Given the description of an element on the screen output the (x, y) to click on. 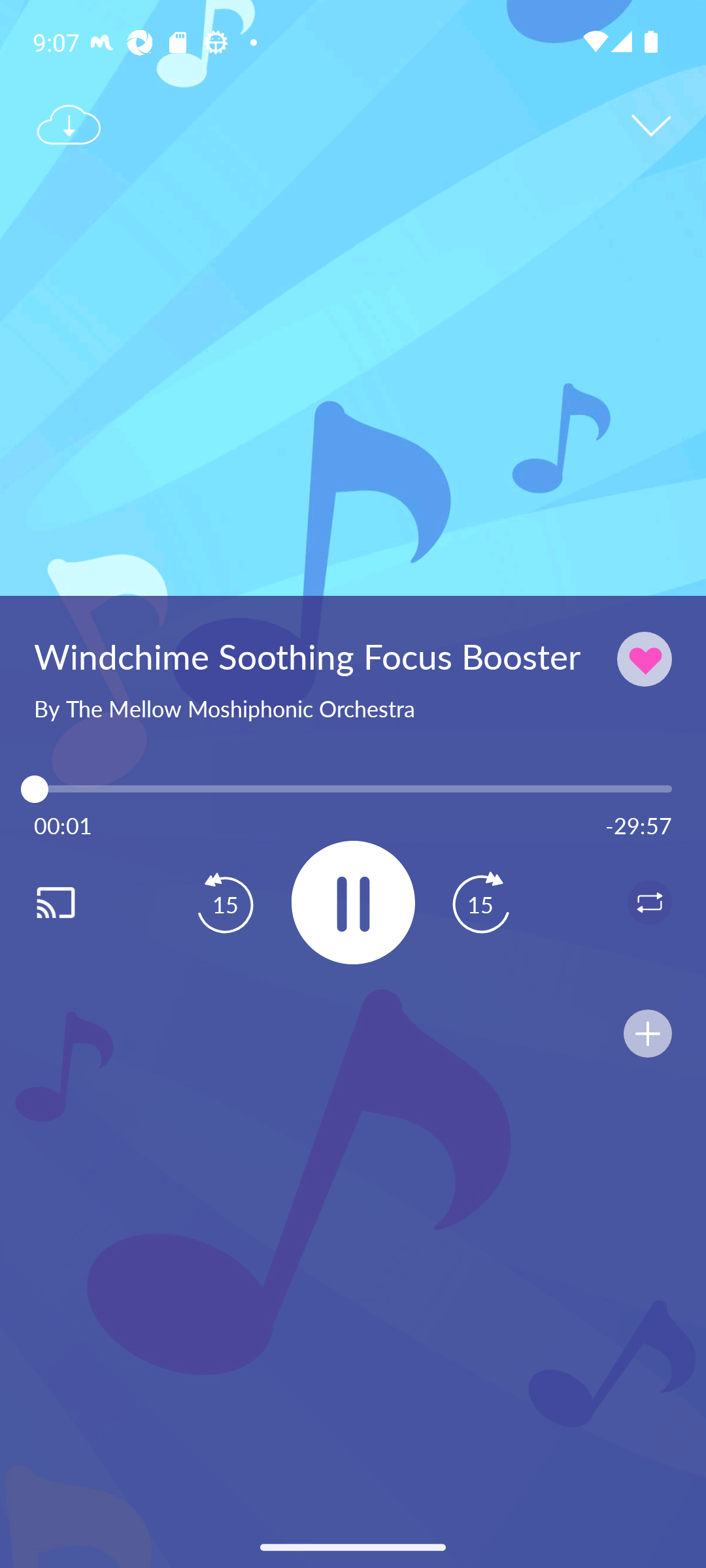
1.0 (352, 789)
Cast. Disconnected (76, 902)
